Given the description of an element on the screen output the (x, y) to click on. 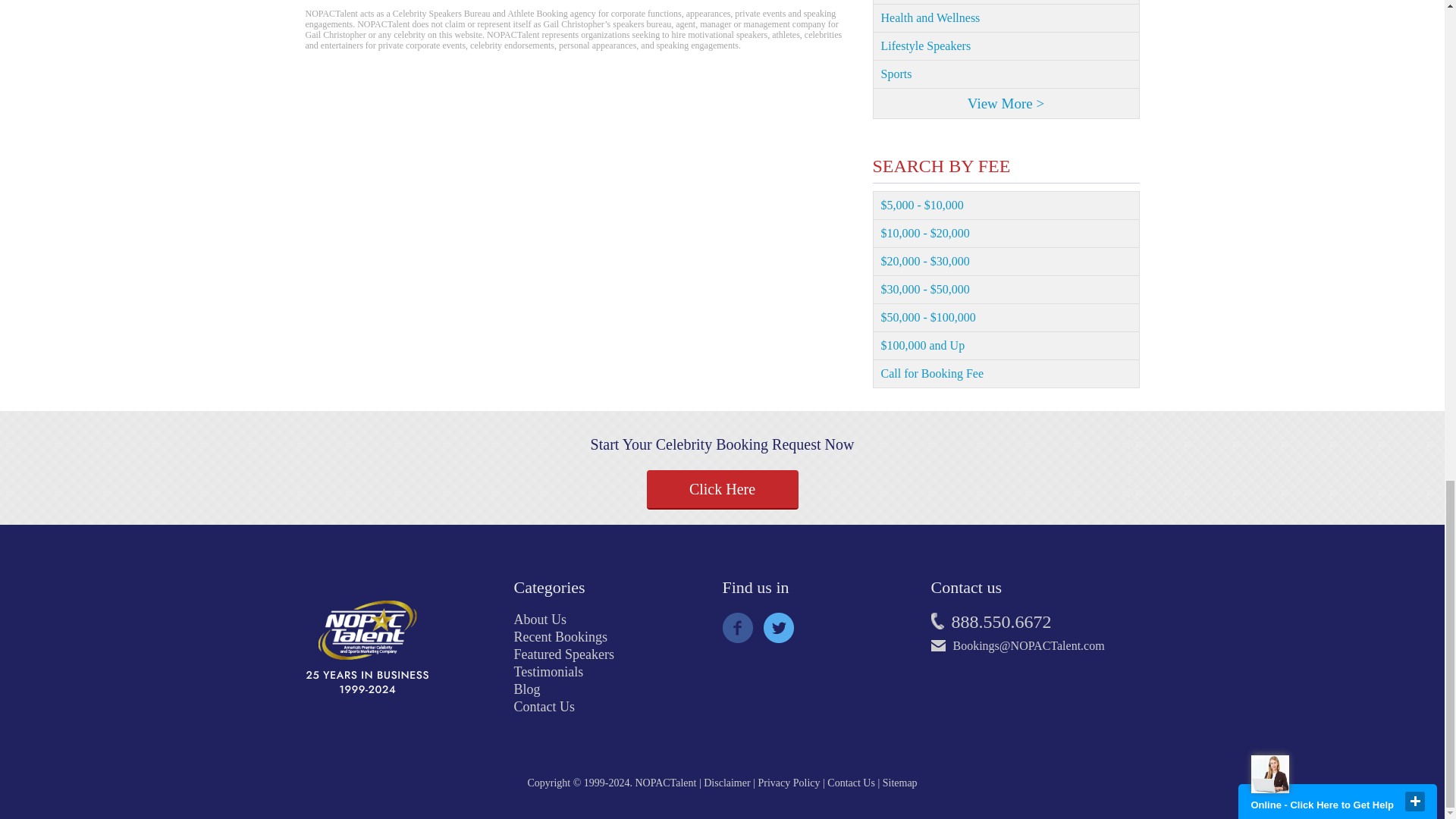
Sports (1005, 74)
Health and Wellness (1005, 18)
Lifestyle Speakers (1005, 46)
Entertainment (1005, 2)
